Given the description of an element on the screen output the (x, y) to click on. 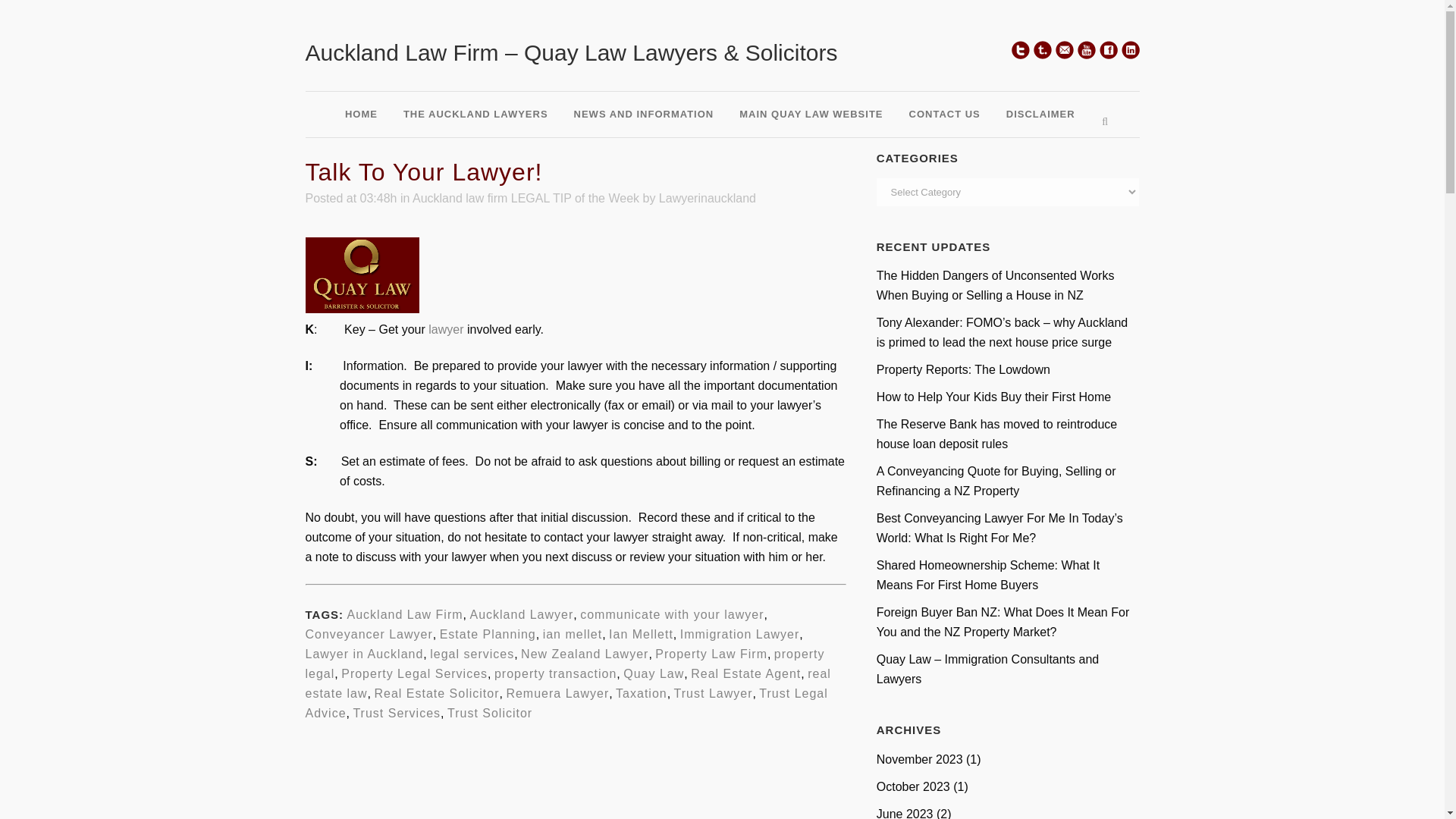
Auckland Law Firm (405, 614)
communicate with your lawyer (670, 614)
Estate Planning (487, 634)
Immigration Lawyer (739, 634)
CONTACT US (944, 114)
Auckland Lawyer (520, 614)
NEWS AND INFORMATION (643, 114)
DISCLAIMER (1039, 114)
HOME (360, 114)
THE AUCKLAND LAWYERS (475, 114)
Lawyerinauckland (707, 197)
legal services (471, 653)
MAIN QUAY LAW WEBSITE (810, 114)
lawyer (447, 328)
Auckland law firm LEGAL TIP of the Week (525, 197)
